Given the description of an element on the screen output the (x, y) to click on. 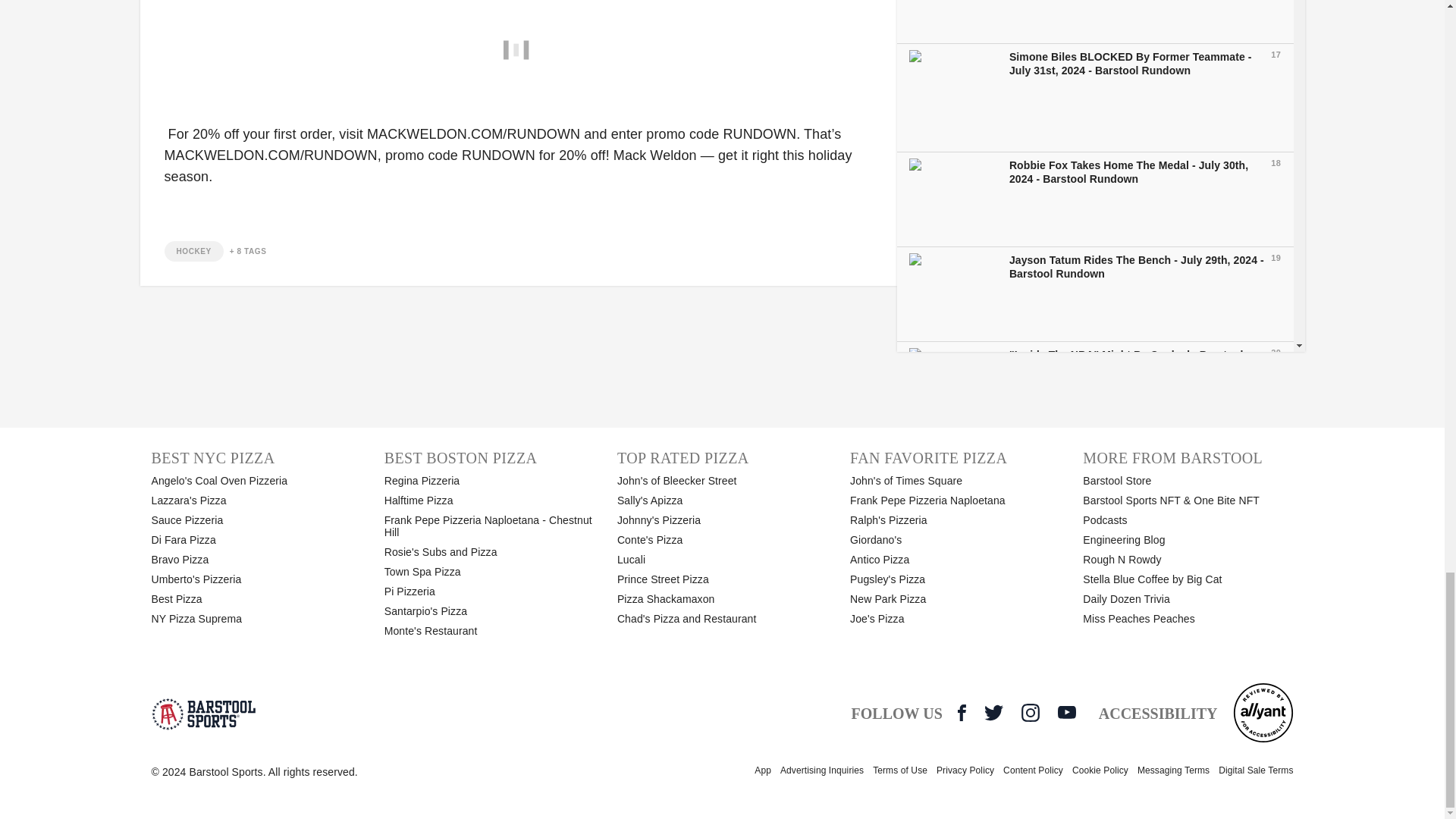
YouTube Icon (1066, 711)
Twitter Icon (993, 712)
Reviewed by Allyant for accessibility (1263, 712)
Instagram Icon (1030, 712)
